Given the description of an element on the screen output the (x, y) to click on. 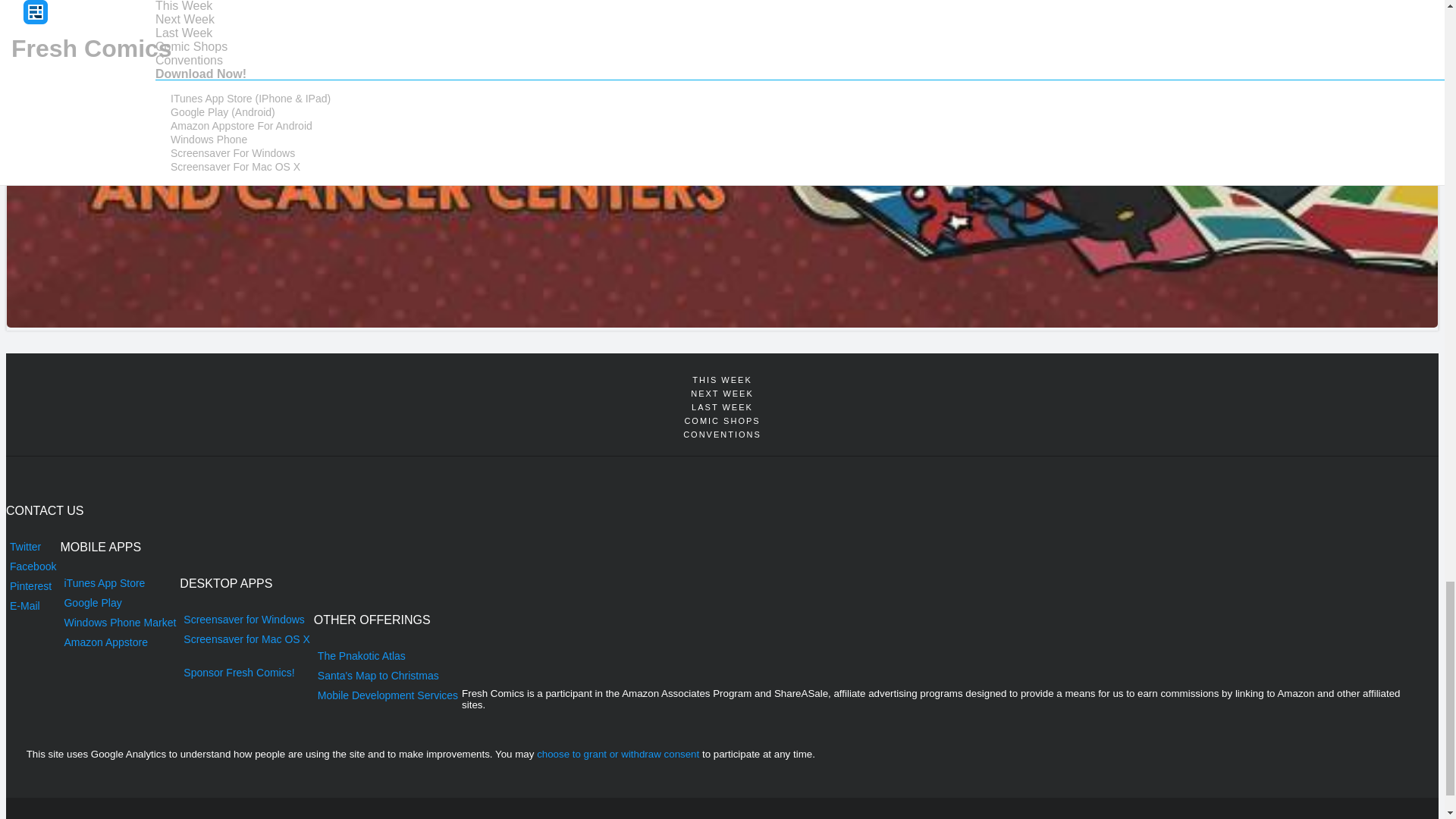
Facebook (32, 566)
Screensaver for Mac OS X (246, 639)
iTunes App Store (119, 582)
Amazon Appstore (119, 641)
Windows Phone Market (119, 622)
THIS WEEK (722, 379)
NEXT WEEK (721, 393)
COMIC SHOPS (722, 420)
choose to grant or withdraw consent (617, 754)
Sponsor Fresh Comics! (246, 672)
